Given the description of an element on the screen output the (x, y) to click on. 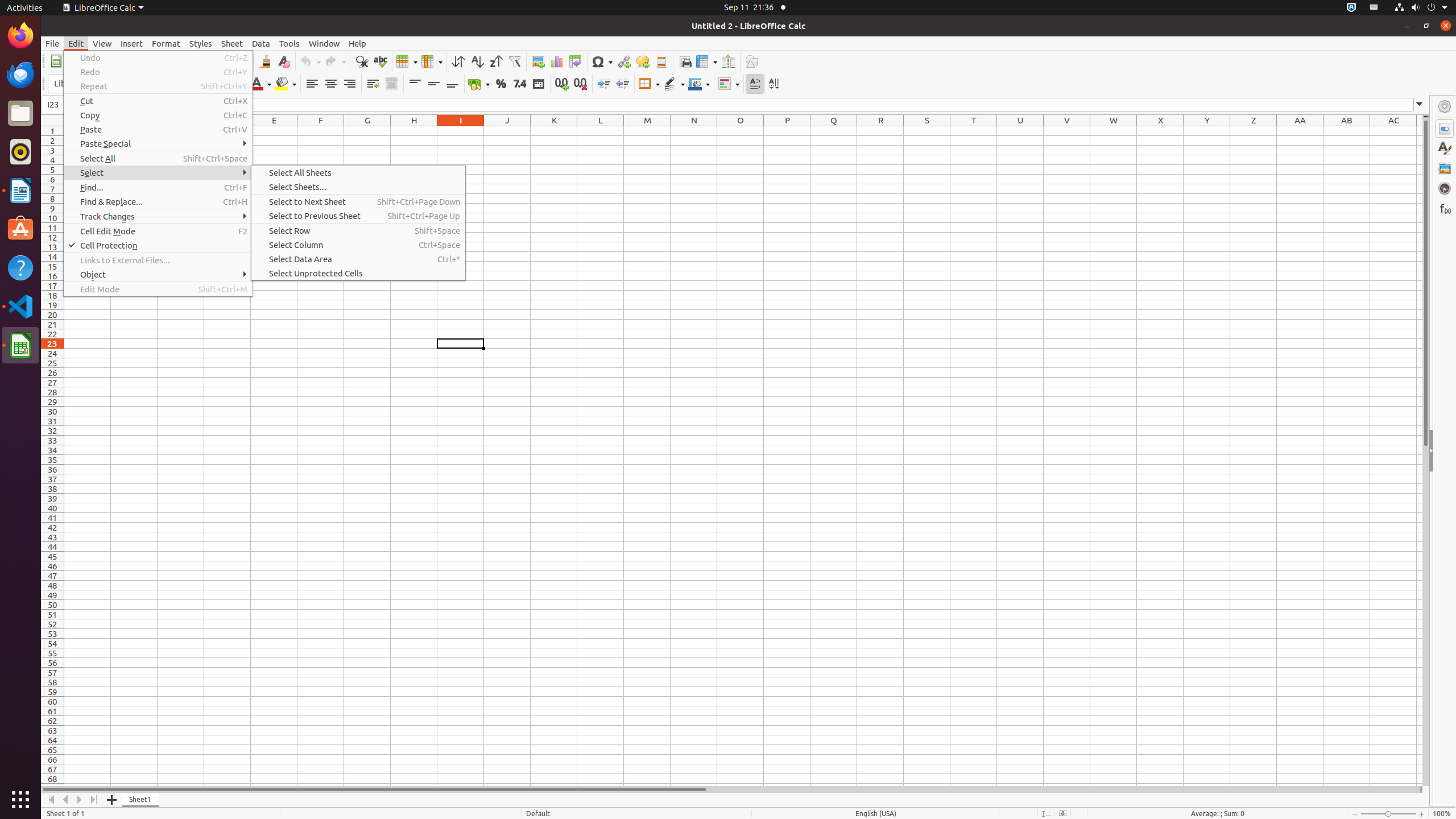
Percent Element type: push-button (500, 83)
Data Element type: menu (260, 43)
Merge and Center Cells Element type: push-button (391, 83)
Y1 Element type: table-cell (1206, 130)
